Given the description of an element on the screen output the (x, y) to click on. 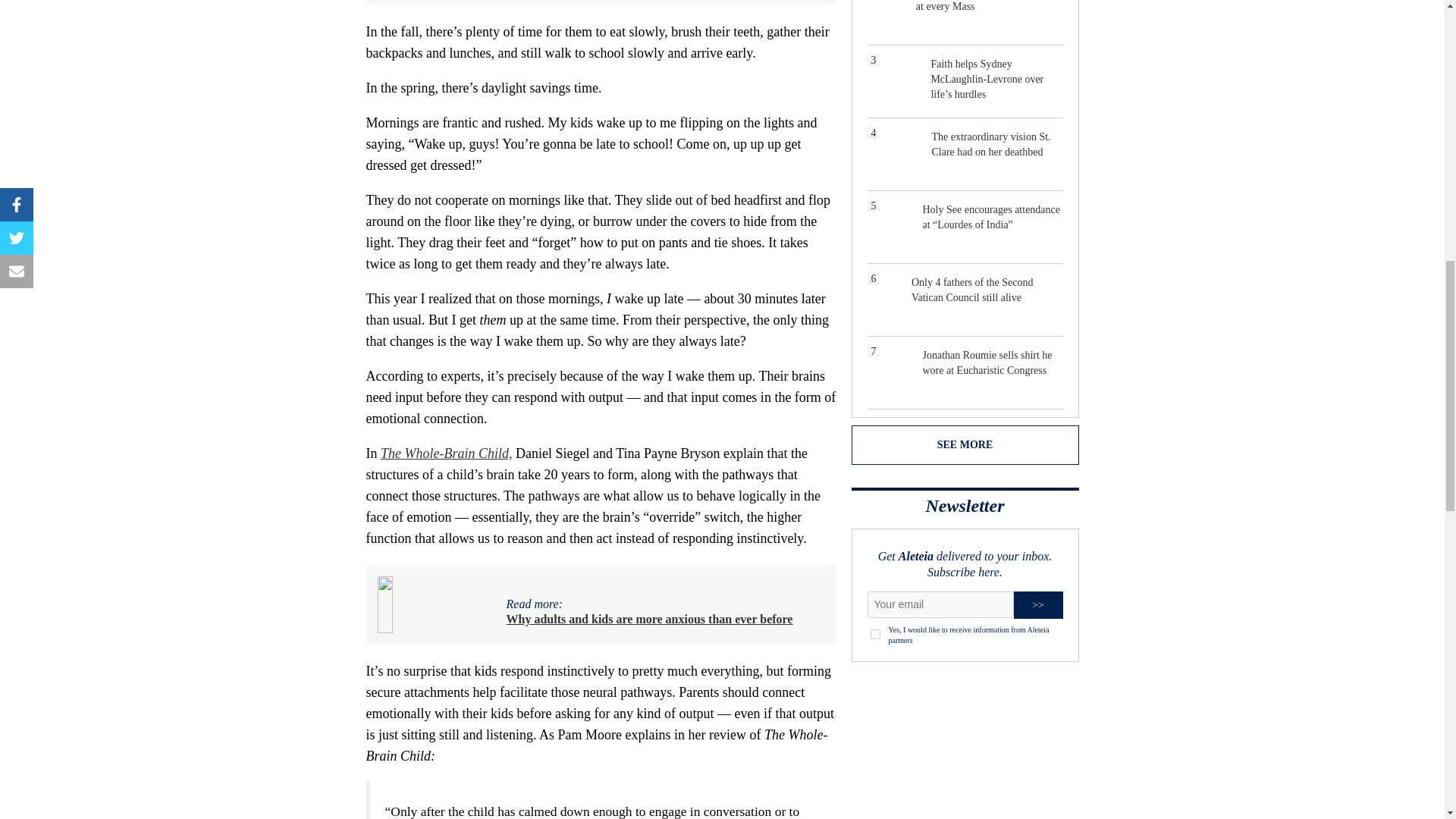
1 (875, 634)
The Whole-Brain Child, (446, 453)
Why adults and kids are more anxious than ever before (649, 618)
